Given the description of an element on the screen output the (x, y) to click on. 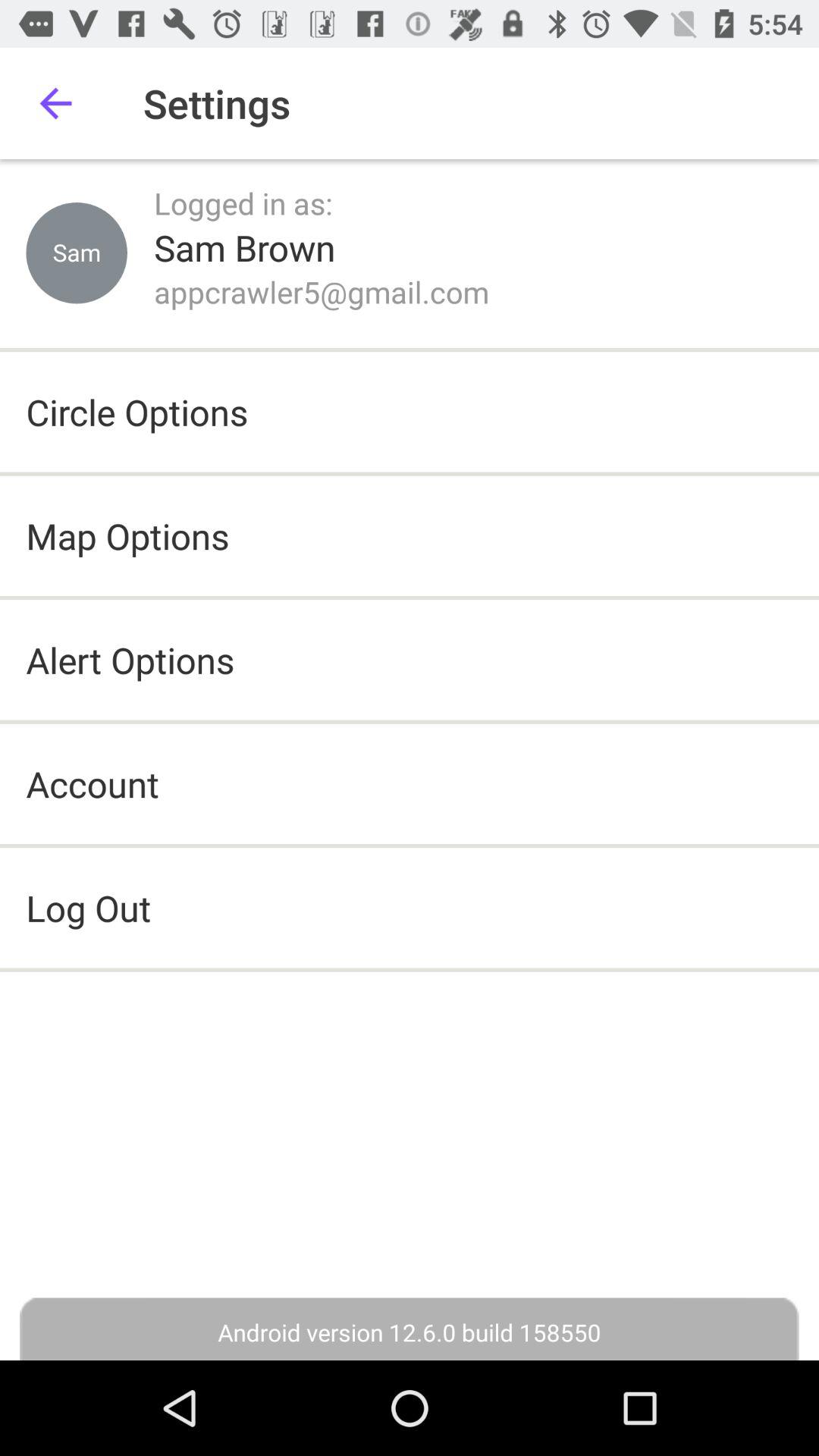
click item next to the logged in as: item (76, 253)
